Given the description of an element on the screen output the (x, y) to click on. 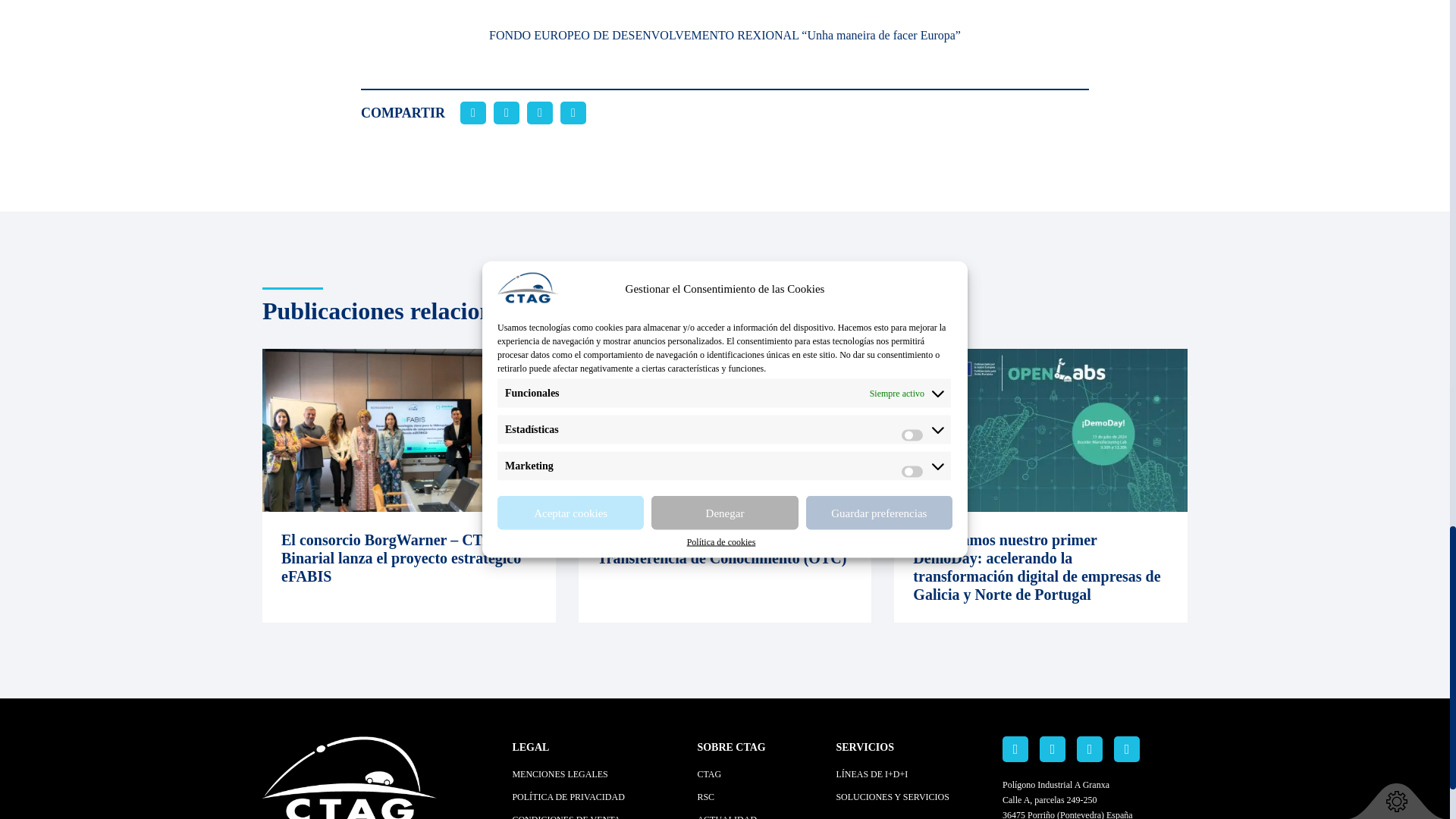
Vimeo (1126, 749)
YouTube (1052, 749)
Instagram (1089, 749)
LinkedIn (1015, 749)
